Given the description of an element on the screen output the (x, y) to click on. 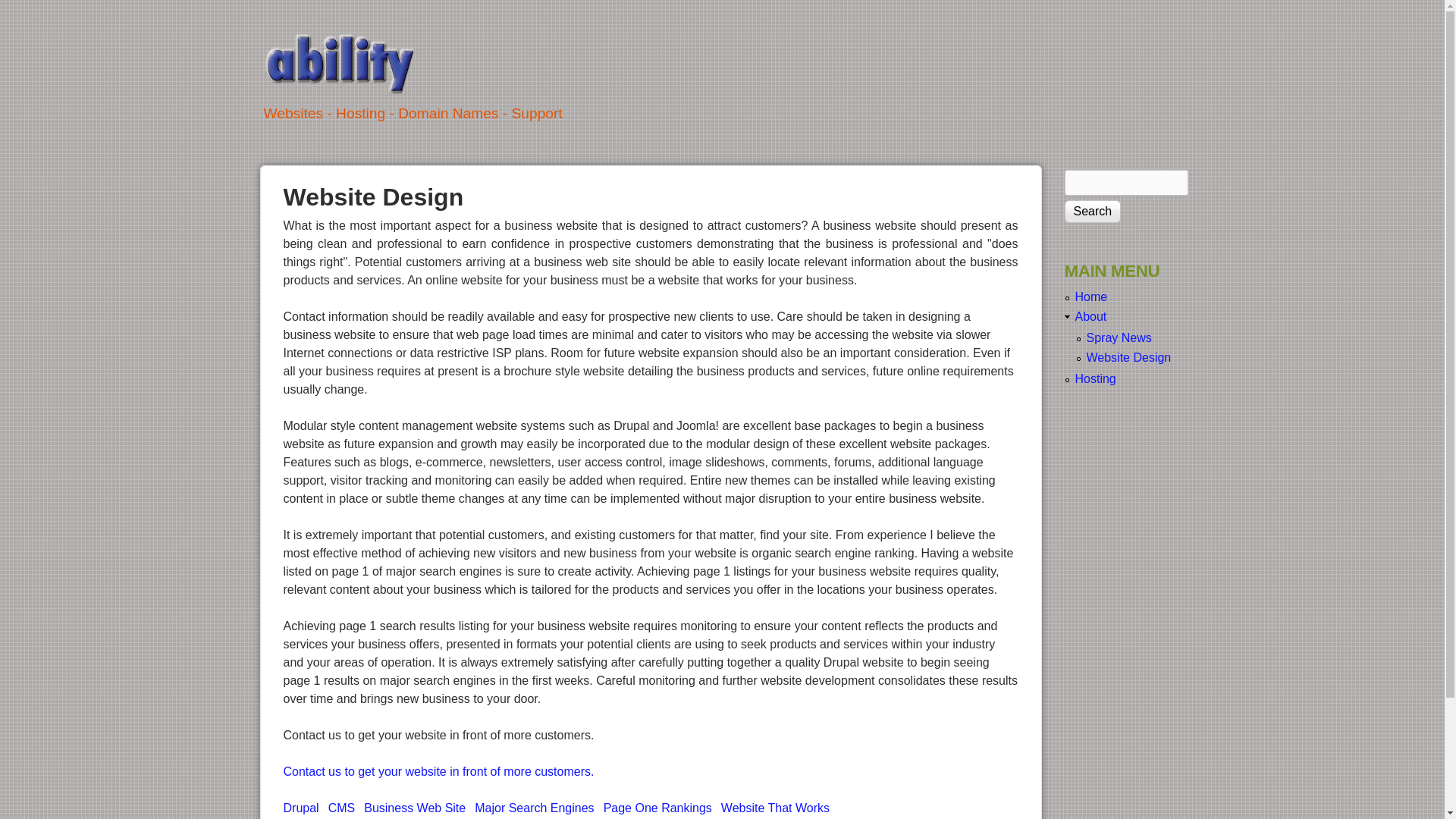
Contact us to get your website in front of more customers. Element type: text (438, 771)
Spray News Element type: text (1118, 337)
Skip to main content Element type: text (704, 0)
Business Web Site Element type: text (414, 807)
Major Search Engines Element type: text (533, 807)
Websites - Hosting - Domain Names - Support Element type: text (650, 125)
CMS Element type: text (341, 807)
Drupal Element type: text (301, 807)
Website Design Element type: text (1127, 357)
Hosting Element type: text (1095, 378)
Enter the terms you wish to search for. Element type: hover (1126, 182)
Website That Works Element type: text (775, 807)
About Element type: text (1091, 316)
Page One Rankings Element type: text (657, 807)
Search Element type: text (1092, 211)
Home Element type: text (1091, 296)
